Given the description of an element on the screen output the (x, y) to click on. 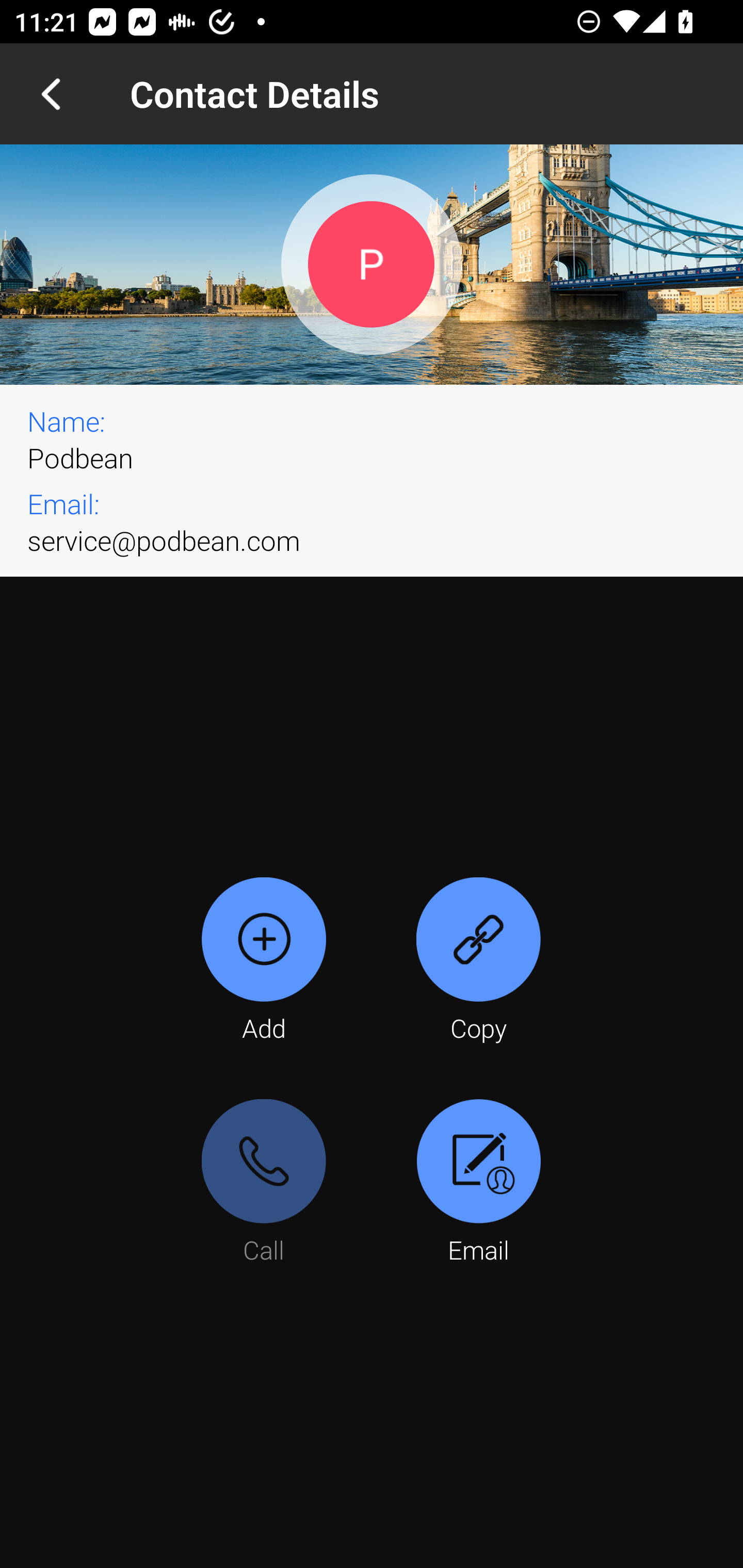
Navigate up (50, 93)
Add (264, 961)
Copy (478, 961)
Call (264, 1182)
Email (478, 1182)
